Given the description of an element on the screen output the (x, y) to click on. 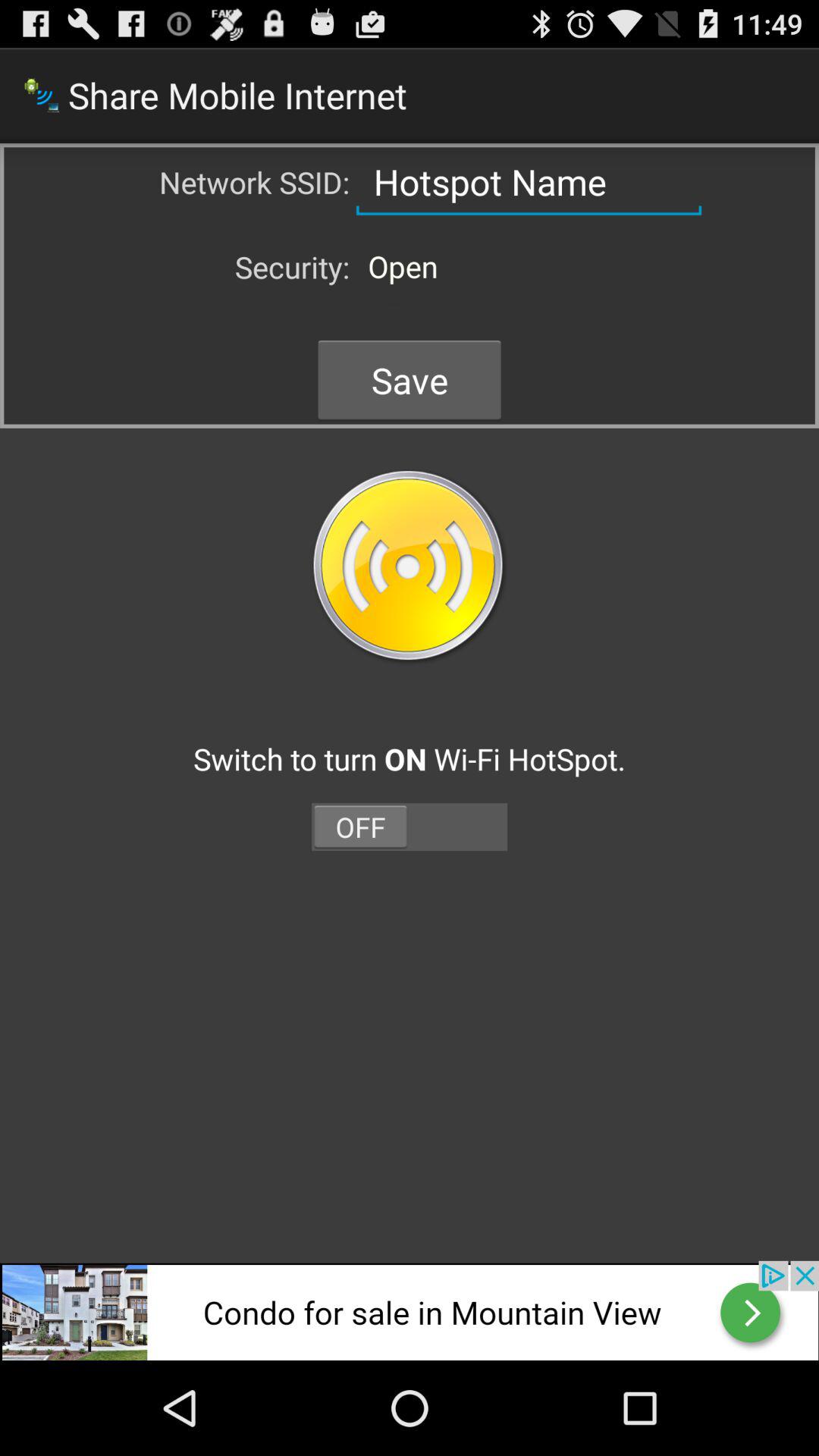
off on button (409, 826)
